Given the description of an element on the screen output the (x, y) to click on. 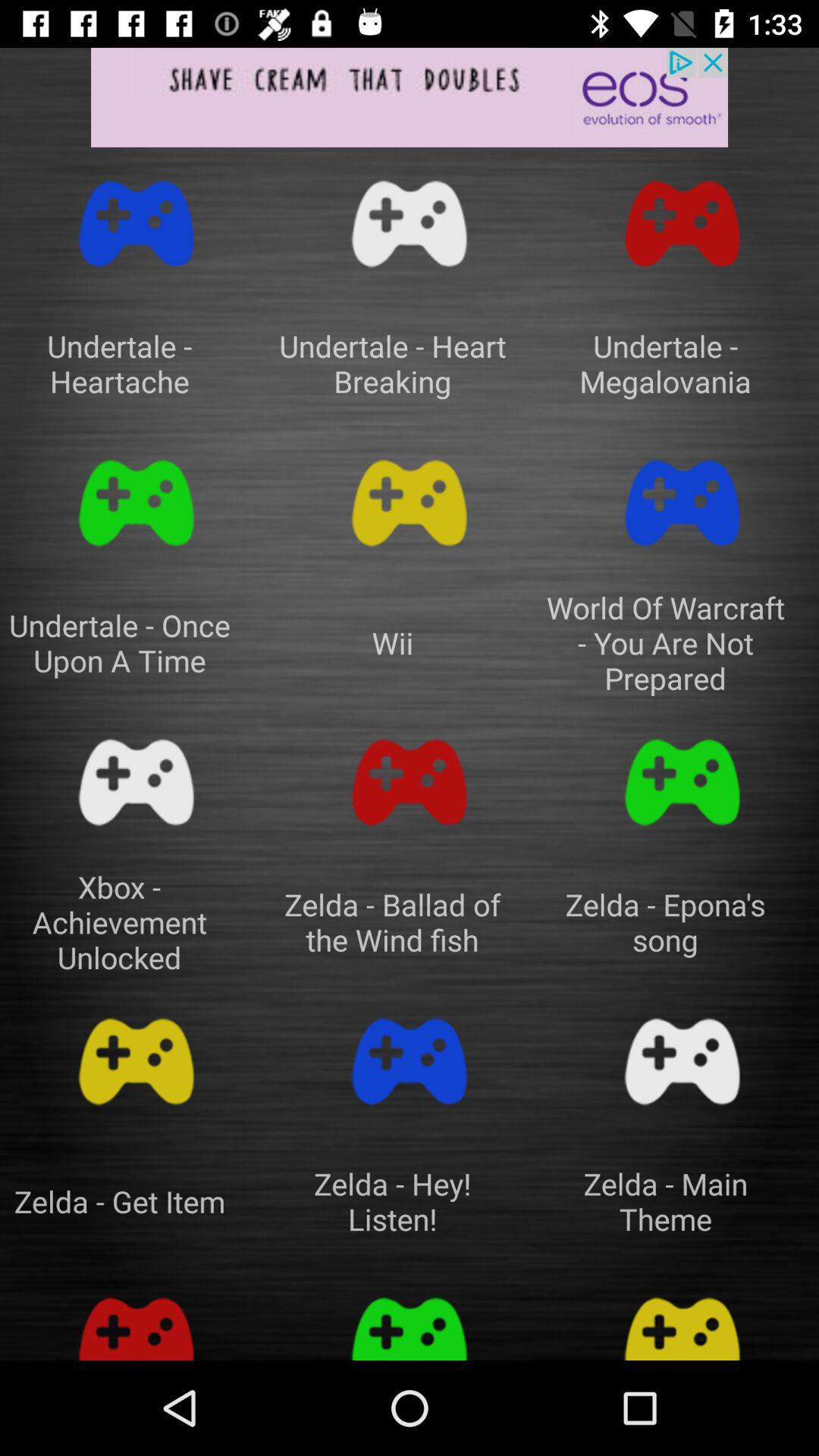
game (136, 1320)
